Given the description of an element on the screen output the (x, y) to click on. 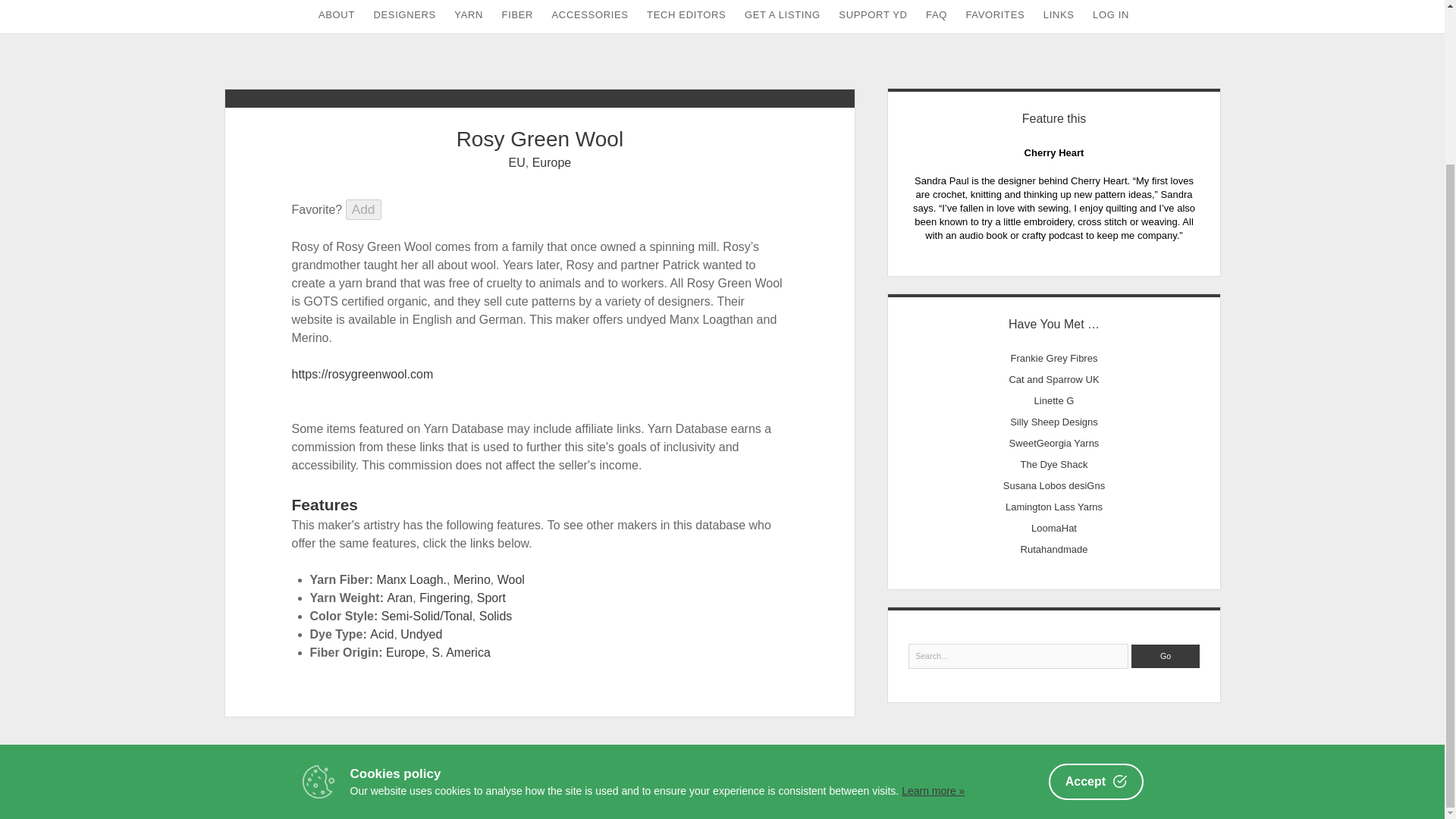
Sport (491, 597)
DESIGNERS (404, 16)
Europe (552, 162)
FAQ (936, 16)
Linette G (1053, 400)
Acid (381, 634)
FAVORITES (994, 16)
Search for: (1018, 656)
Frankie Grey Fibres (1053, 357)
Europe (405, 652)
